Given the description of an element on the screen output the (x, y) to click on. 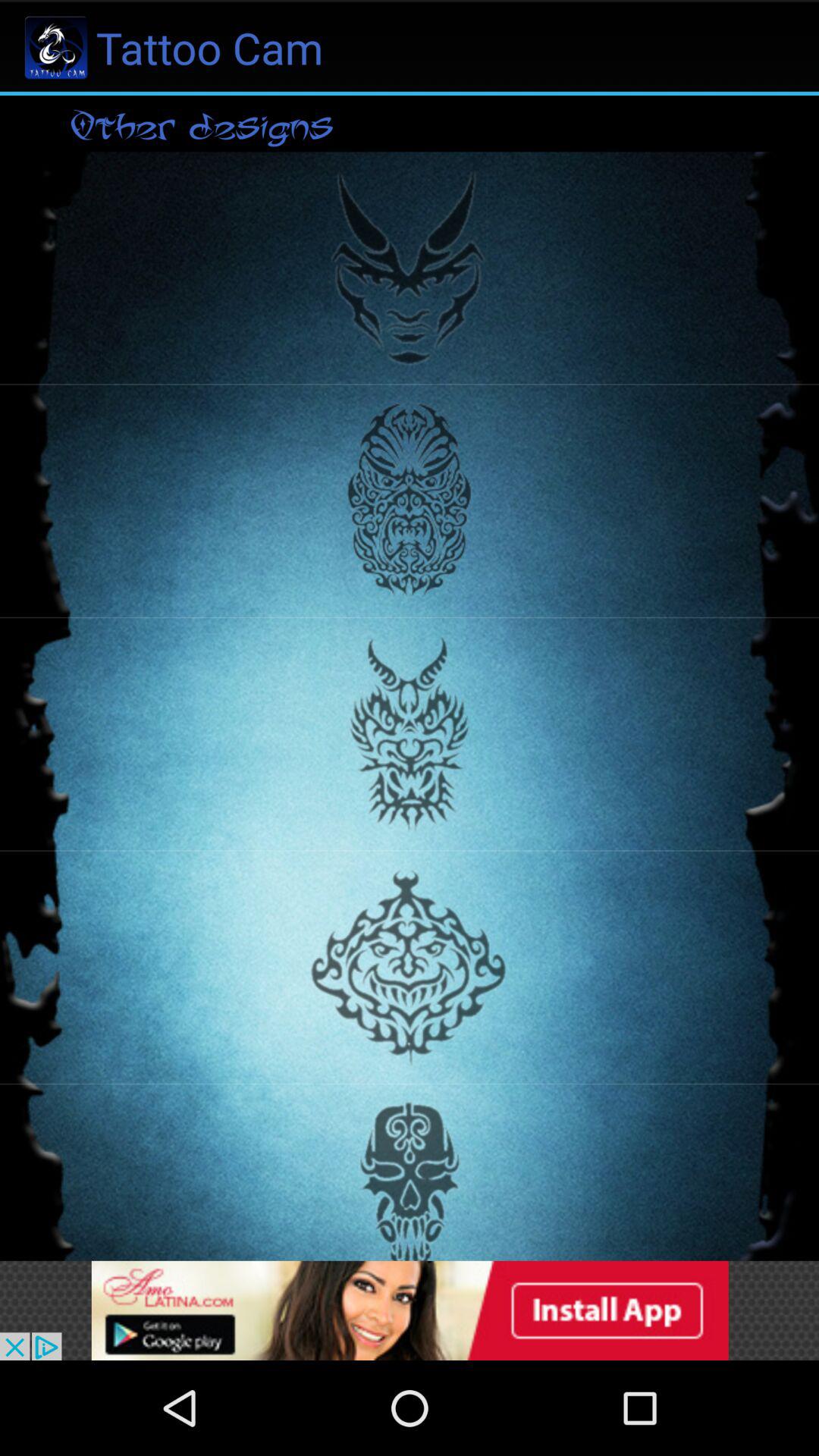
go to advertisement (409, 1310)
